Given the description of an element on the screen output the (x, y) to click on. 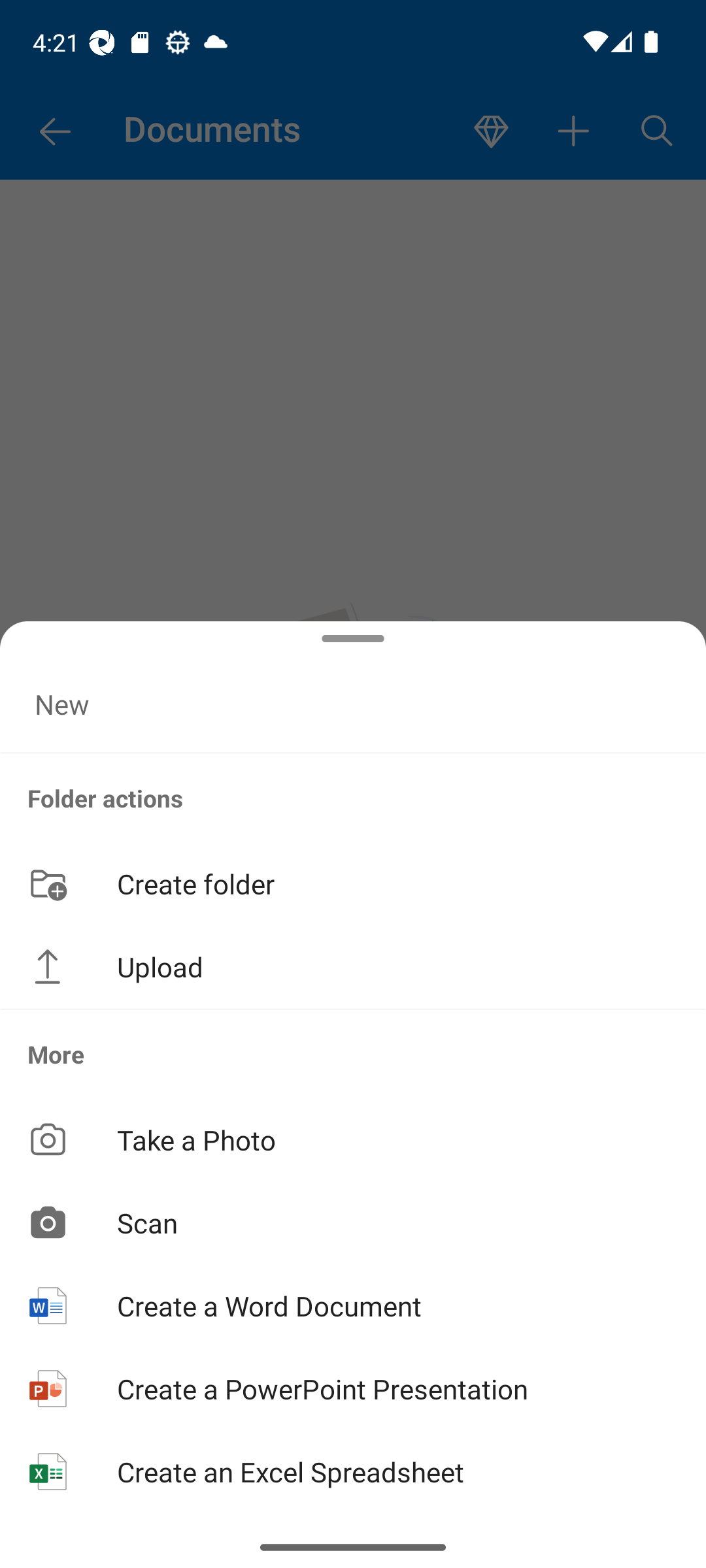
Create folder button Create folder (353, 883)
Upload button Upload (353, 966)
Take a Photo button Take a Photo (353, 1138)
Scan button Scan (353, 1221)
